Given the description of an element on the screen output the (x, y) to click on. 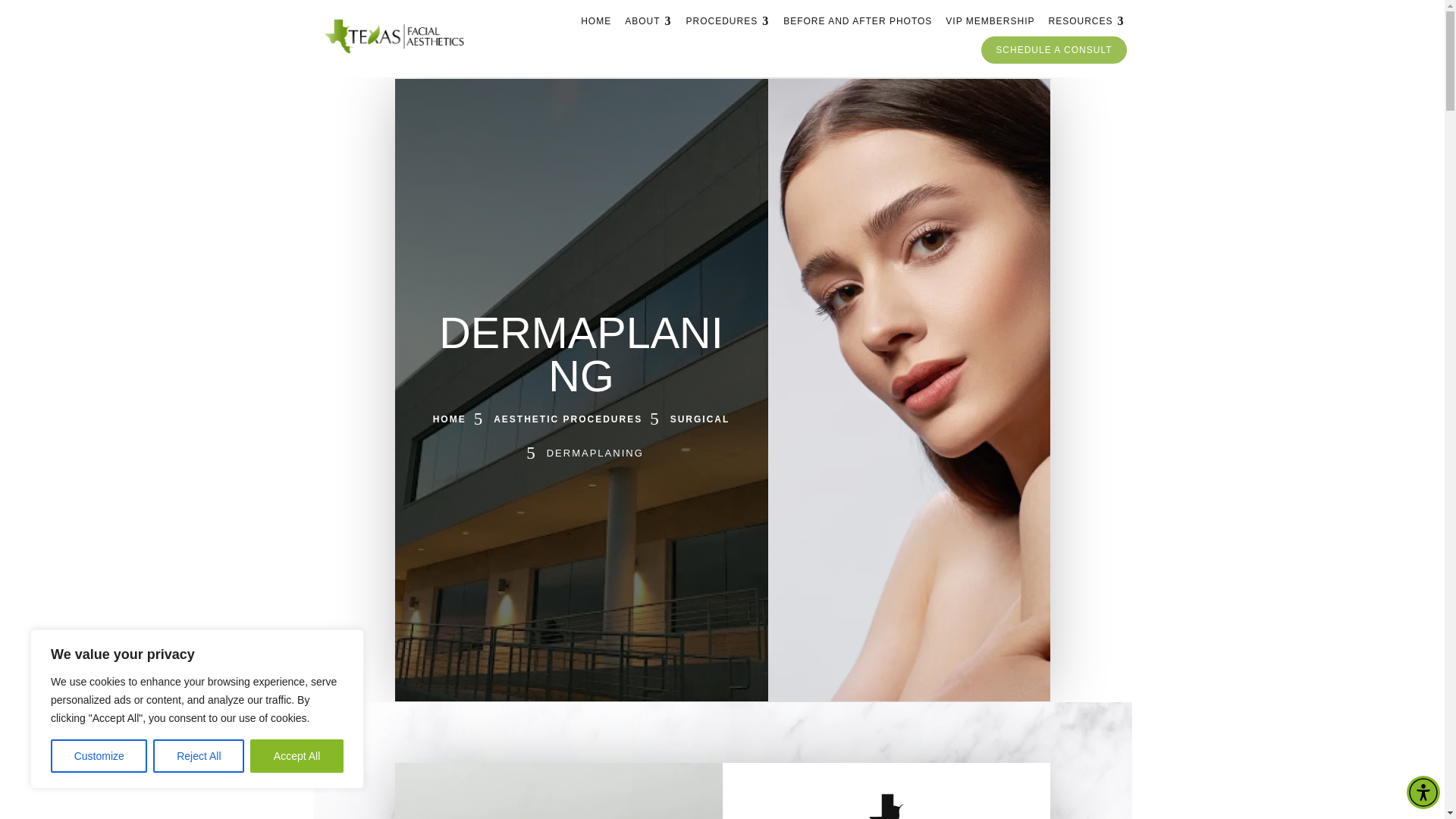
PROCEDURES (728, 21)
HOME (595, 21)
Texas Facial Aesthetics Logo (394, 36)
Reject All (198, 756)
Accessibility Menu (1422, 792)
Accept All (296, 756)
Customize (98, 756)
ABOUT (647, 21)
texas facial aesthetics logo small (885, 806)
